Given the description of an element on the screen output the (x, y) to click on. 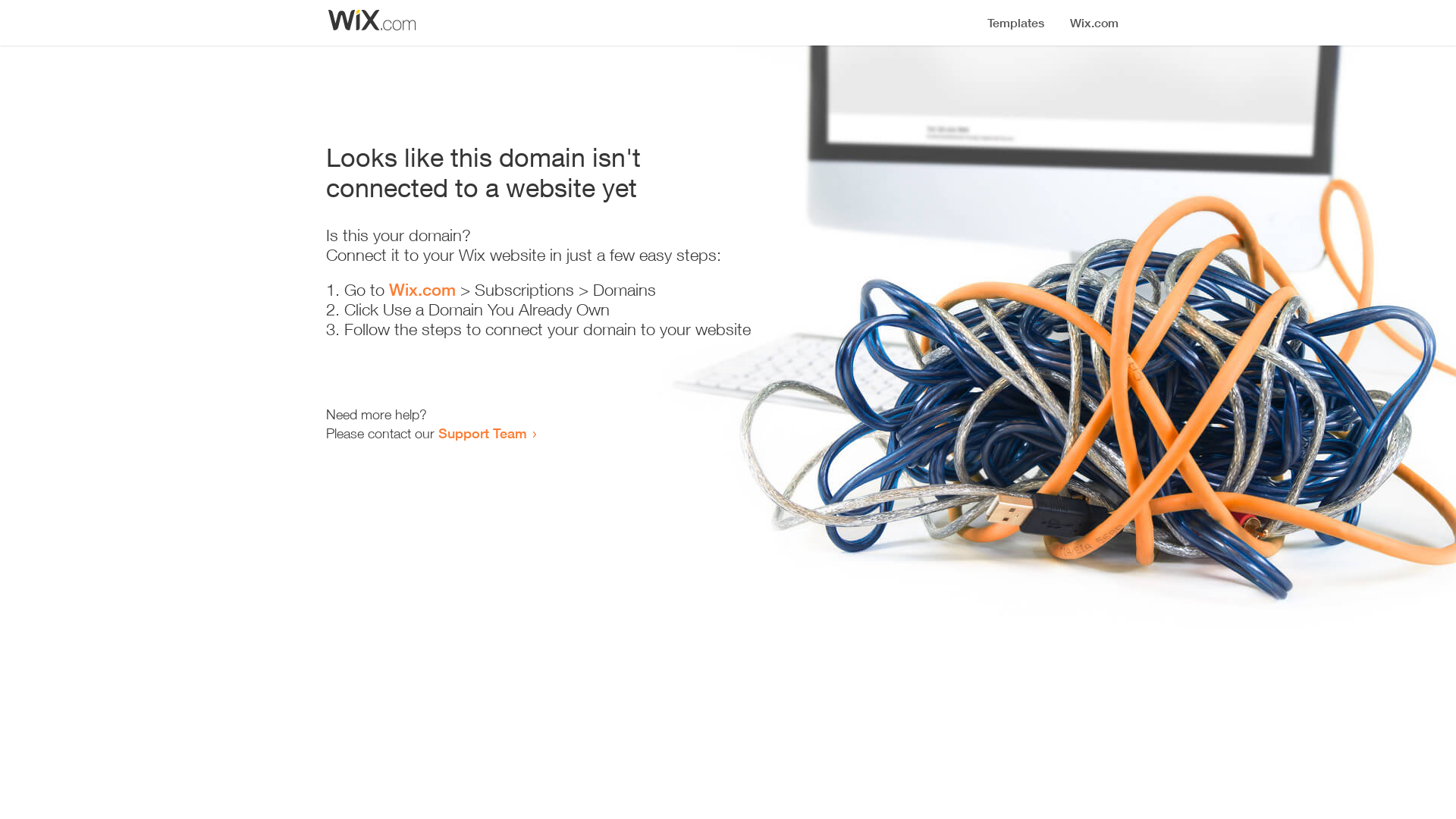
Wix.com Element type: text (422, 289)
Support Team Element type: text (482, 432)
